Given the description of an element on the screen output the (x, y) to click on. 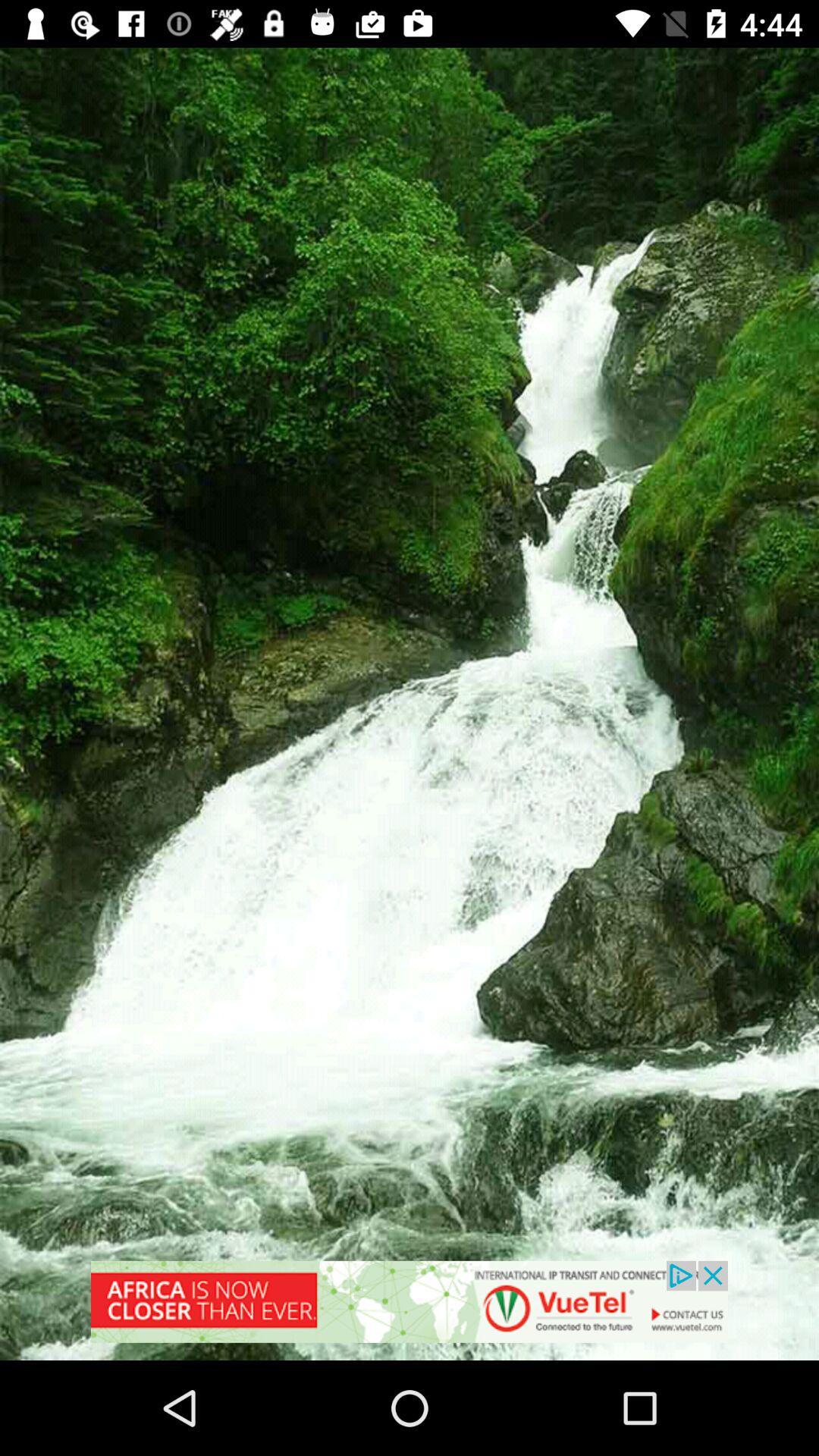
redirect to advertisement (409, 1310)
